Given the description of an element on the screen output the (x, y) to click on. 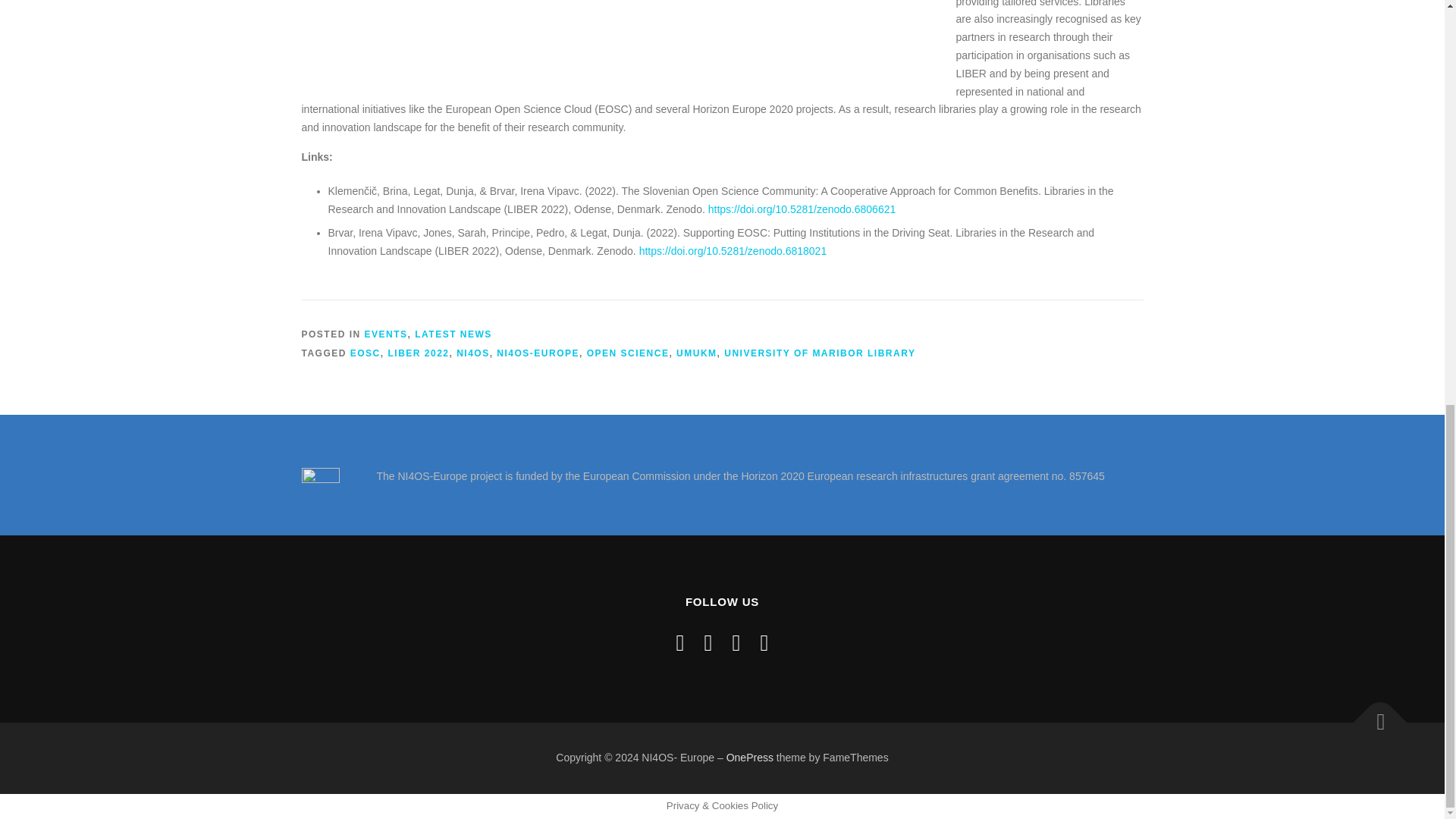
LATEST NEWS (453, 334)
EVENTS (386, 334)
Back To Top (1372, 714)
EOSC (365, 353)
